Given the description of an element on the screen output the (x, y) to click on. 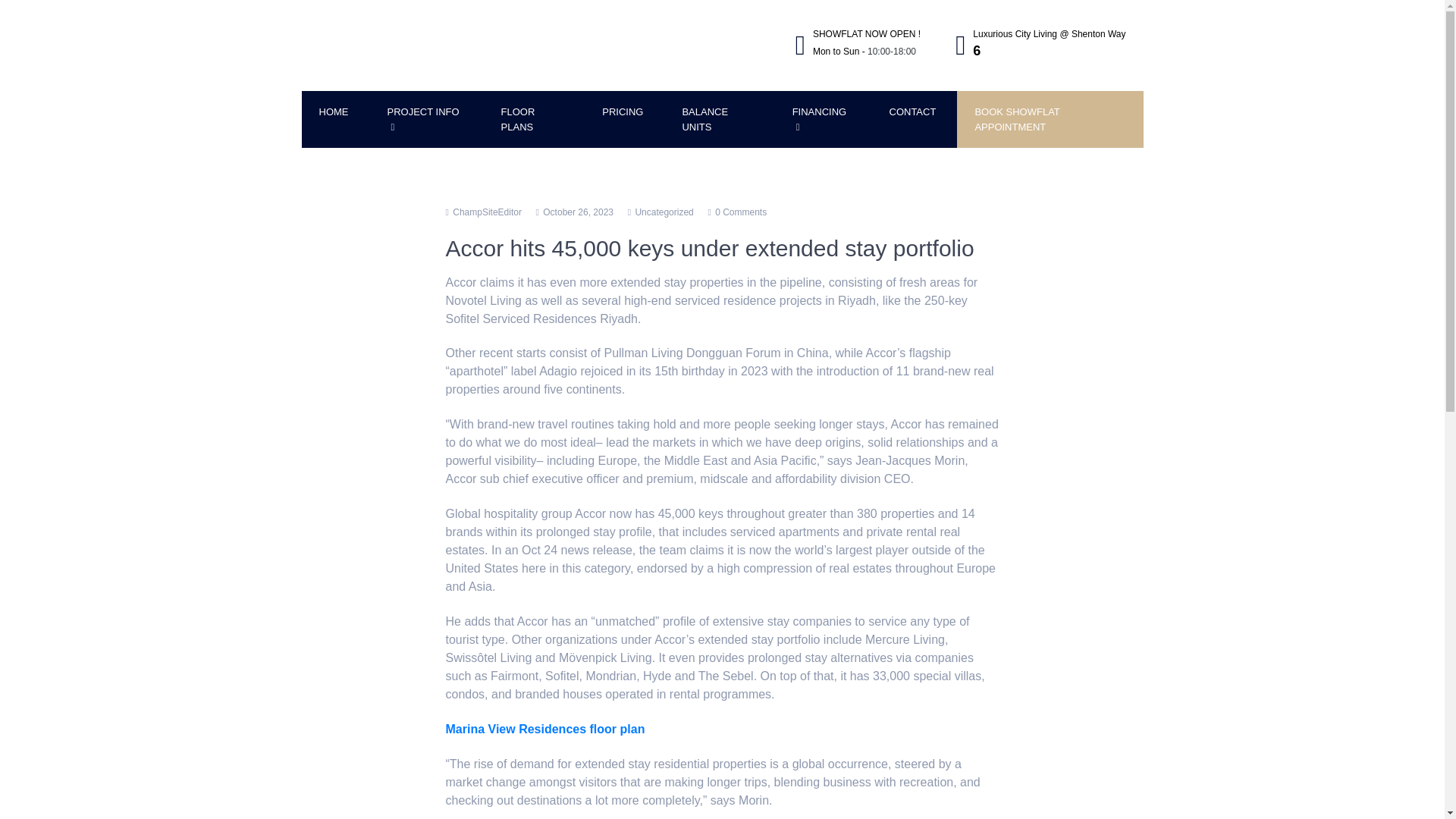
Home (333, 111)
CONTACT (912, 111)
Project Info (424, 119)
PROJECT INFO (424, 119)
FINANCING (820, 119)
Balance Units (716, 119)
Pricing (623, 111)
Floor Plans (531, 119)
BOOK SHOWFLAT APPOINTMENT (1049, 119)
